Given the description of an element on the screen output the (x, y) to click on. 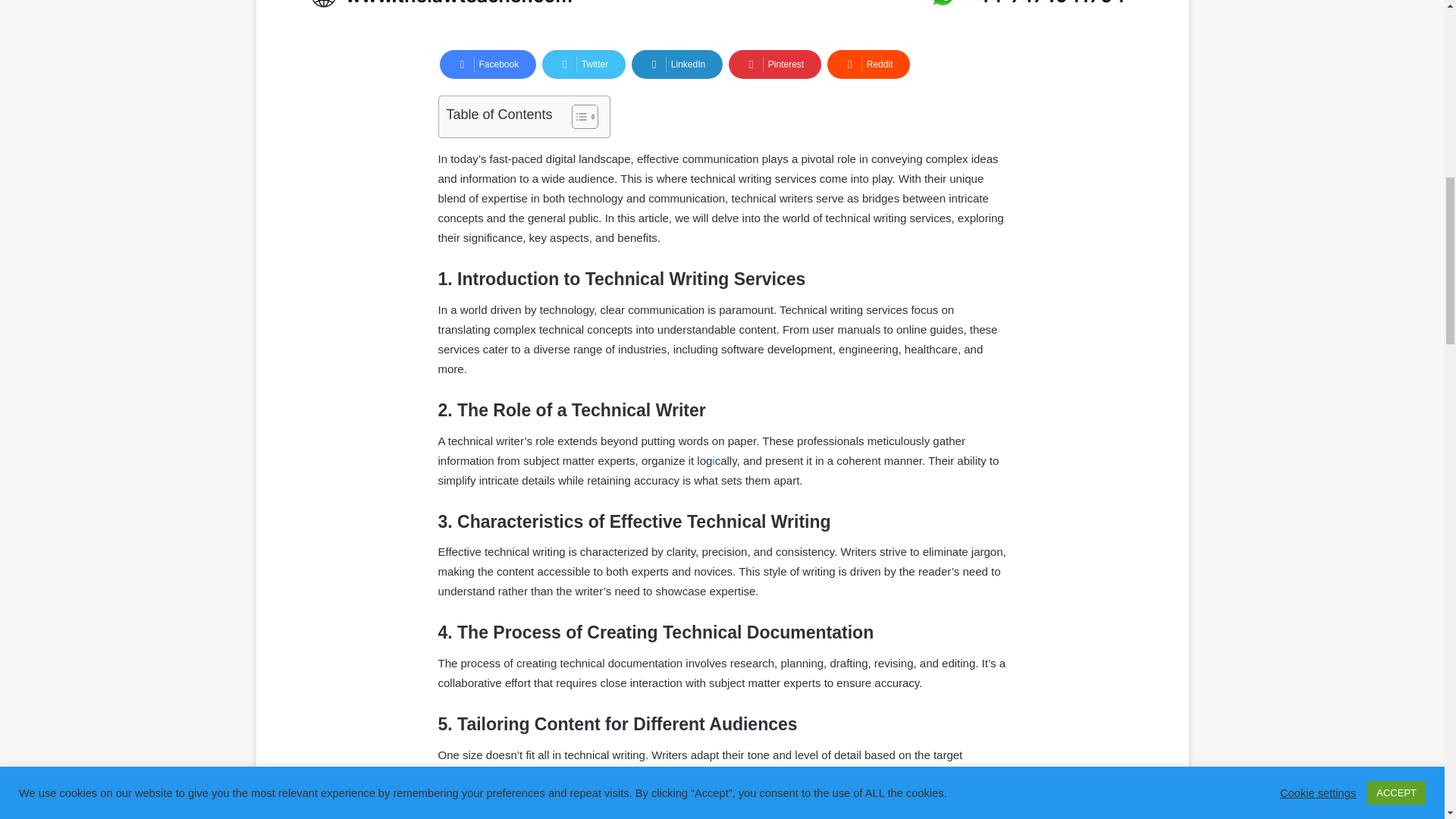
Pinterest (775, 63)
Facebook (488, 63)
Reddit (869, 63)
Reddit (869, 63)
LinkedIn (676, 63)
Facebook (488, 63)
Twitter (583, 63)
Pinterest (775, 63)
Twitter (583, 63)
LinkedIn (676, 63)
